Given the description of an element on the screen output the (x, y) to click on. 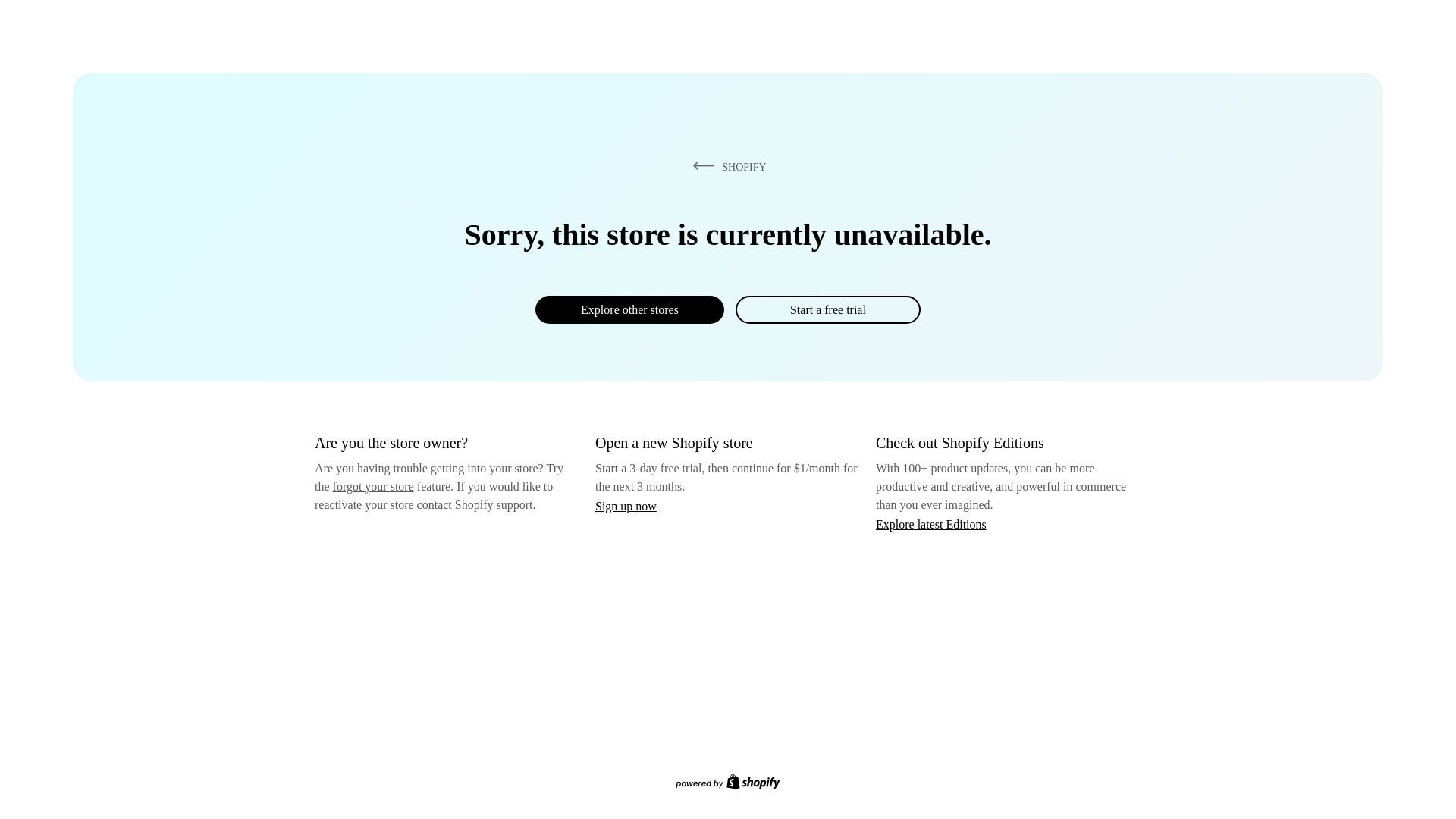
Sign up now (625, 505)
Explore other stores (629, 309)
SHOPIFY (726, 166)
Explore latest Editions (931, 523)
Shopify support (493, 504)
Start a free trial (827, 309)
forgot your store (373, 486)
